Given the description of an element on the screen output the (x, y) to click on. 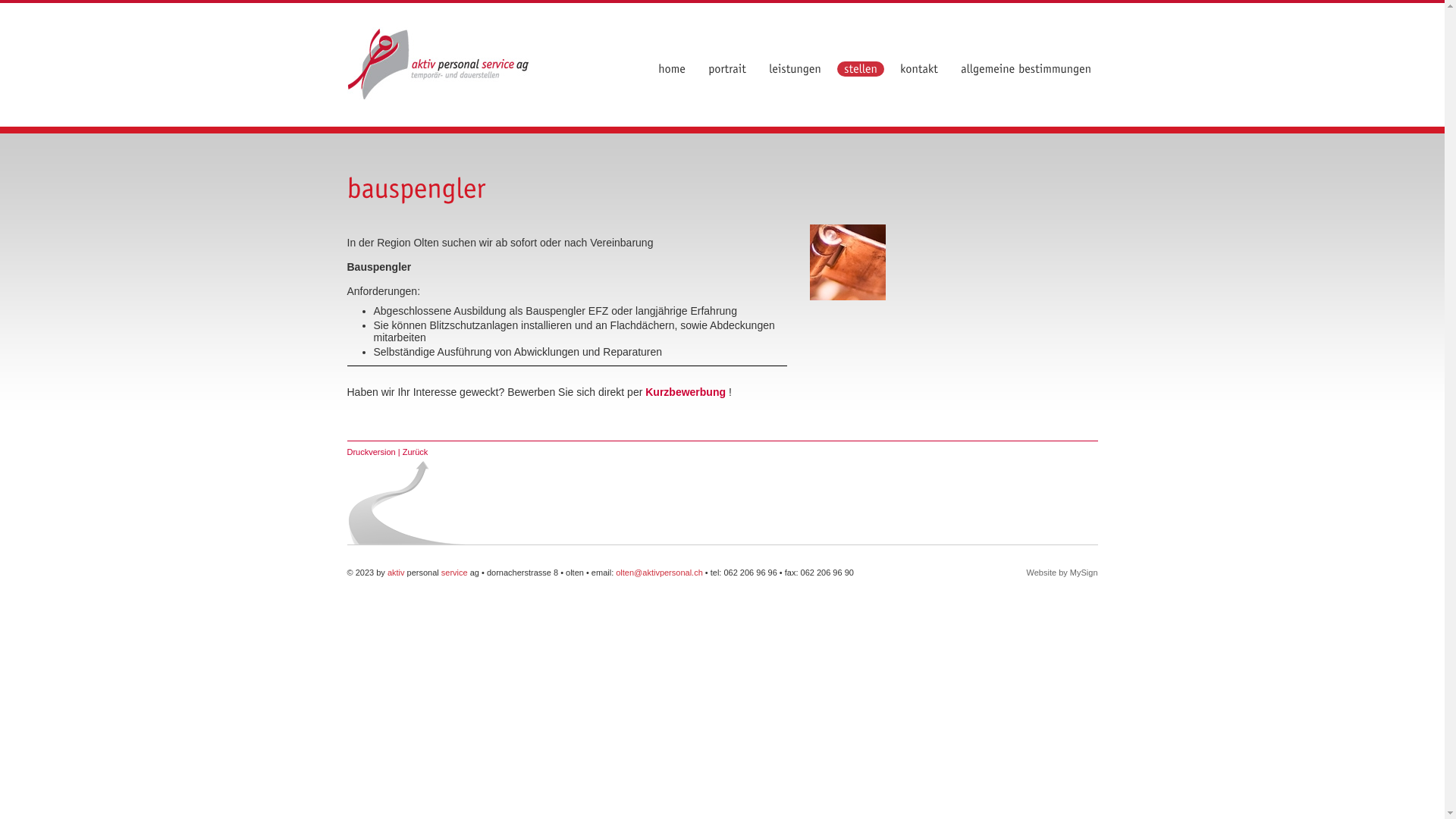
Portrait Element type: hover (726, 68)
Kurzbewerbung Element type: text (685, 391)
Stellen Element type: hover (860, 68)
aktiv personal service ag Element type: hover (438, 65)
Druckversion Element type: text (371, 451)
Home Element type: hover (670, 68)
bauspengler Element type: hover (847, 262)
allgemeine bestimmungen Element type: hover (1025, 68)
Leistungen Element type: hover (794, 68)
Kontakt Element type: hover (918, 68)
Website by MySign Element type: text (1062, 572)
olten@aktivpersonal.ch Element type: text (660, 572)
